Given the description of an element on the screen output the (x, y) to click on. 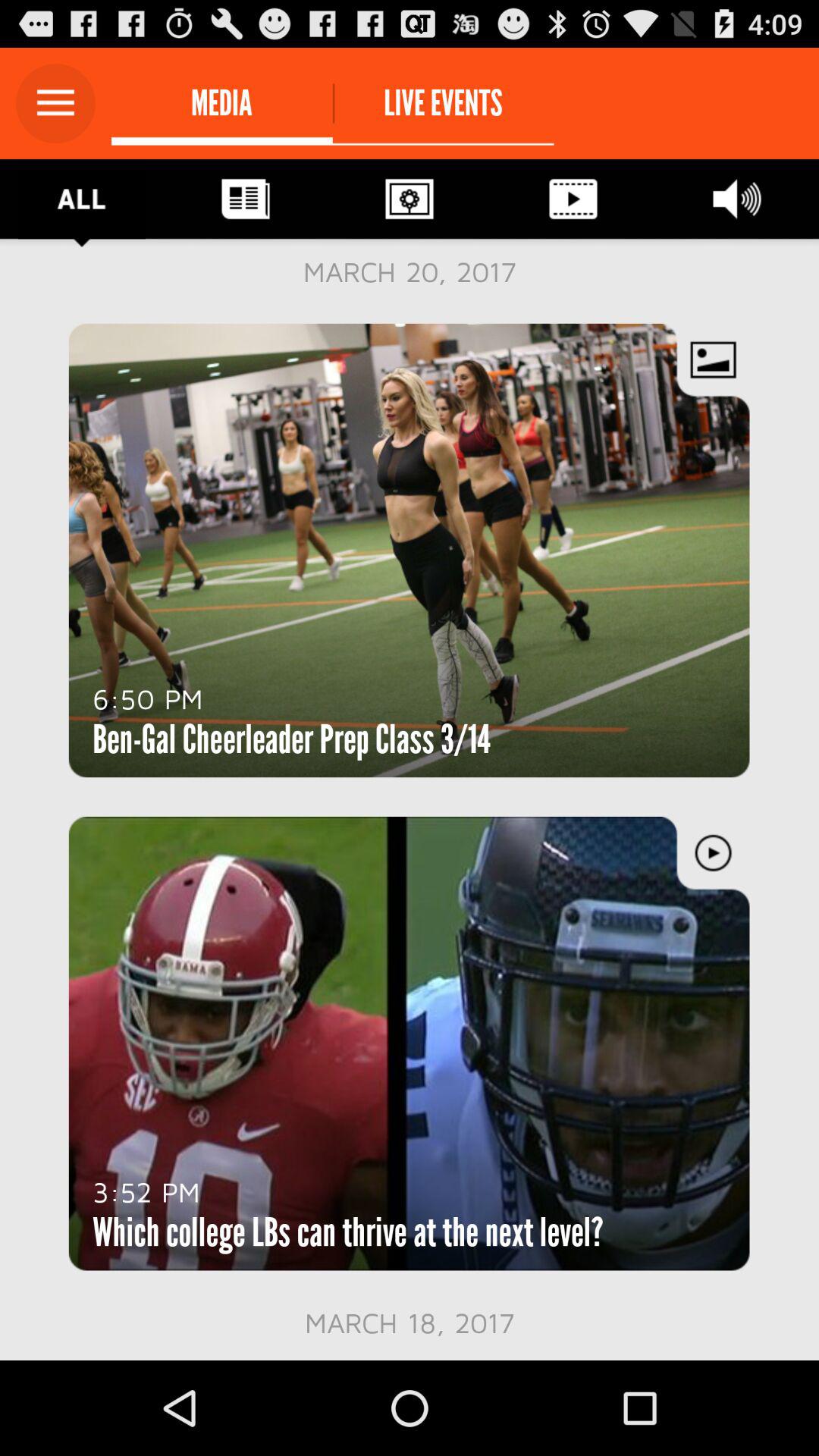
turn on icon below 3:52 pm item (347, 1232)
